Given the description of an element on the screen output the (x, y) to click on. 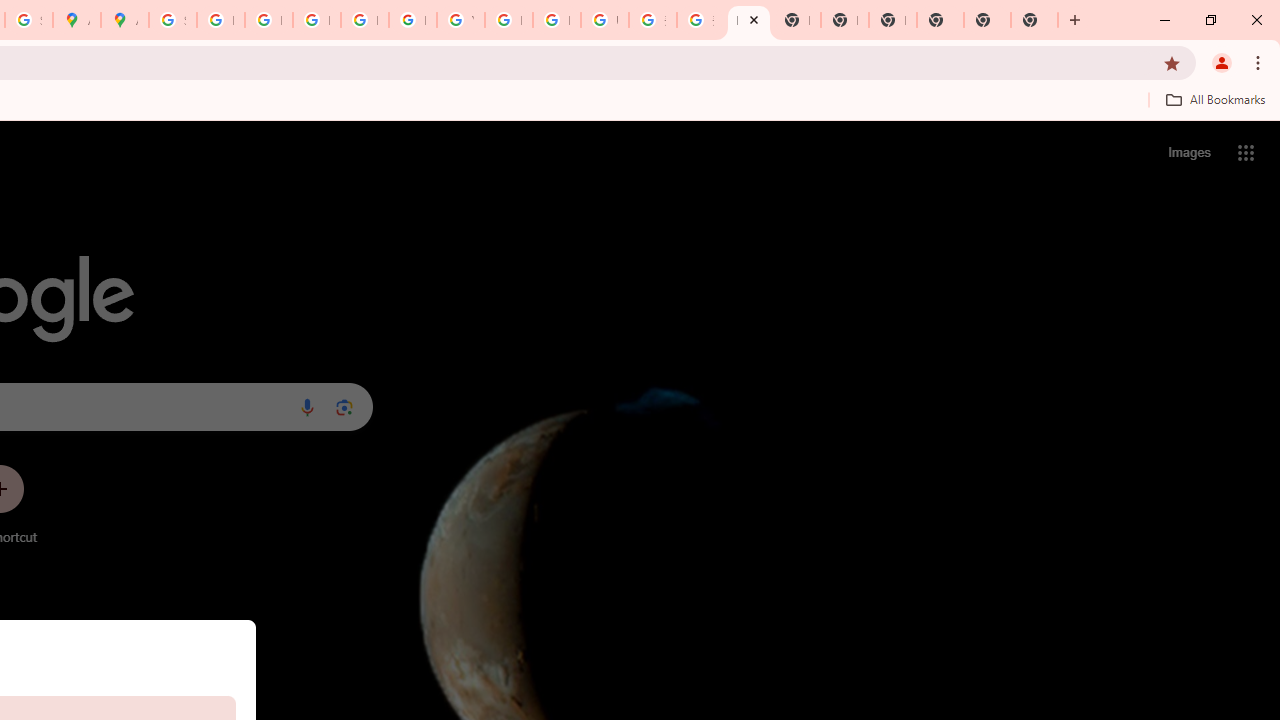
YouTube (460, 20)
New Tab (987, 20)
New Tab (892, 20)
Sign in - Google Accounts (172, 20)
